Given the description of an element on the screen output the (x, y) to click on. 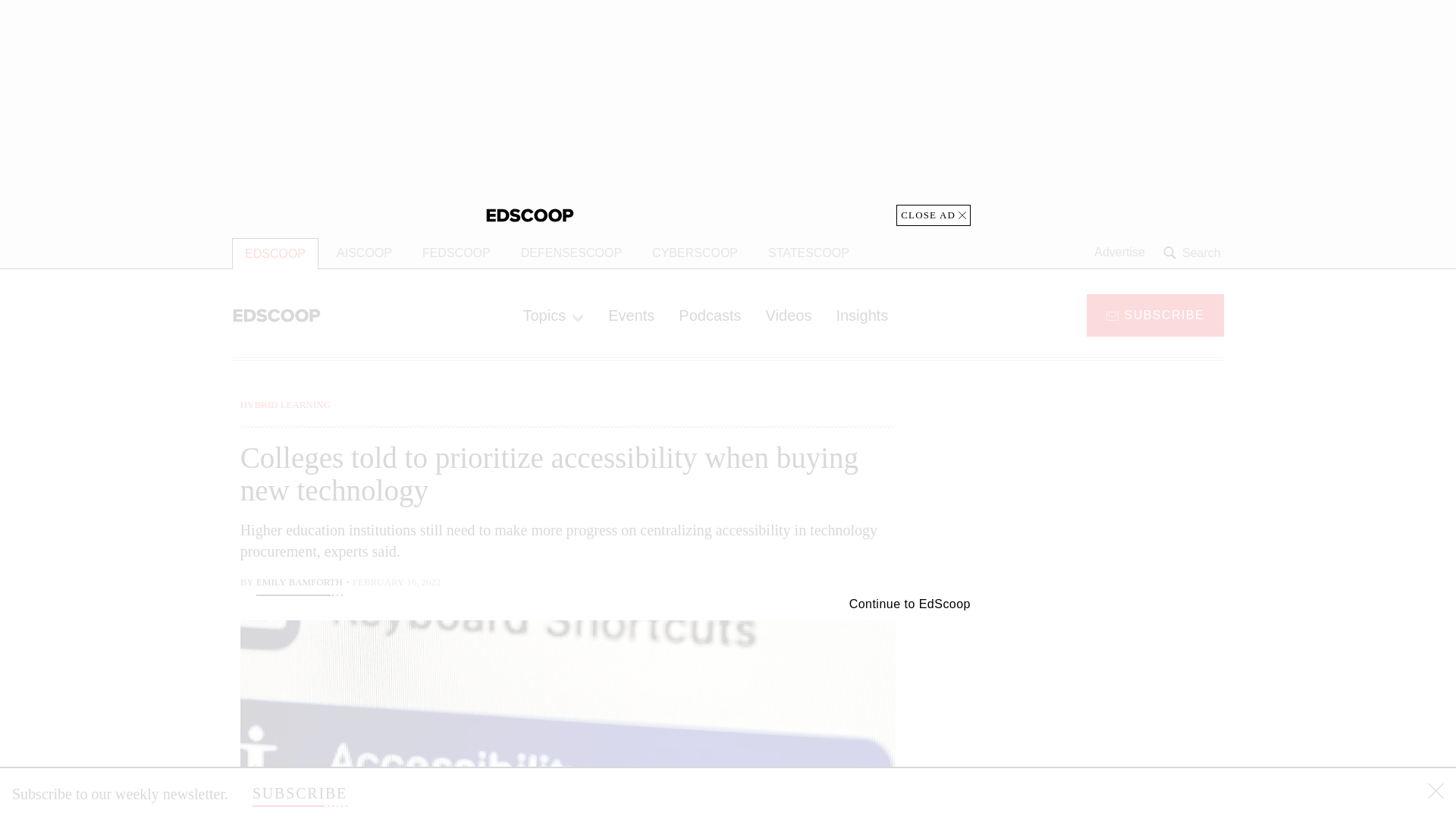
STATESCOOP (808, 253)
Events (630, 315)
Search (1193, 252)
HYBRID LEARNING (285, 404)
Topics (553, 315)
DEFENSESCOOP (570, 253)
3rd party ad content (1101, 705)
SUBSCRIBE (1155, 314)
Advertise (1119, 252)
